Given the description of an element on the screen output the (x, y) to click on. 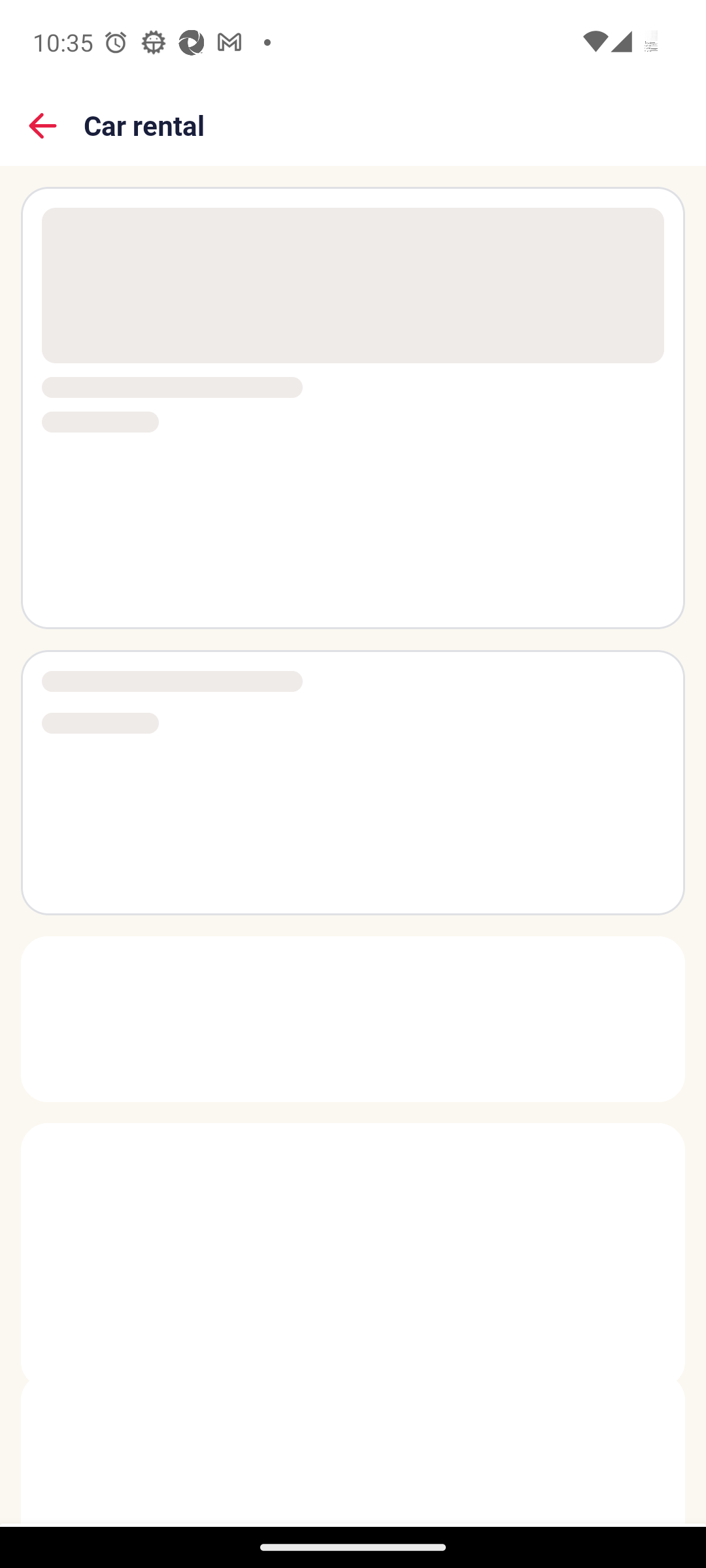
Go back to car rental search results (43, 125)
